Given the description of an element on the screen output the (x, y) to click on. 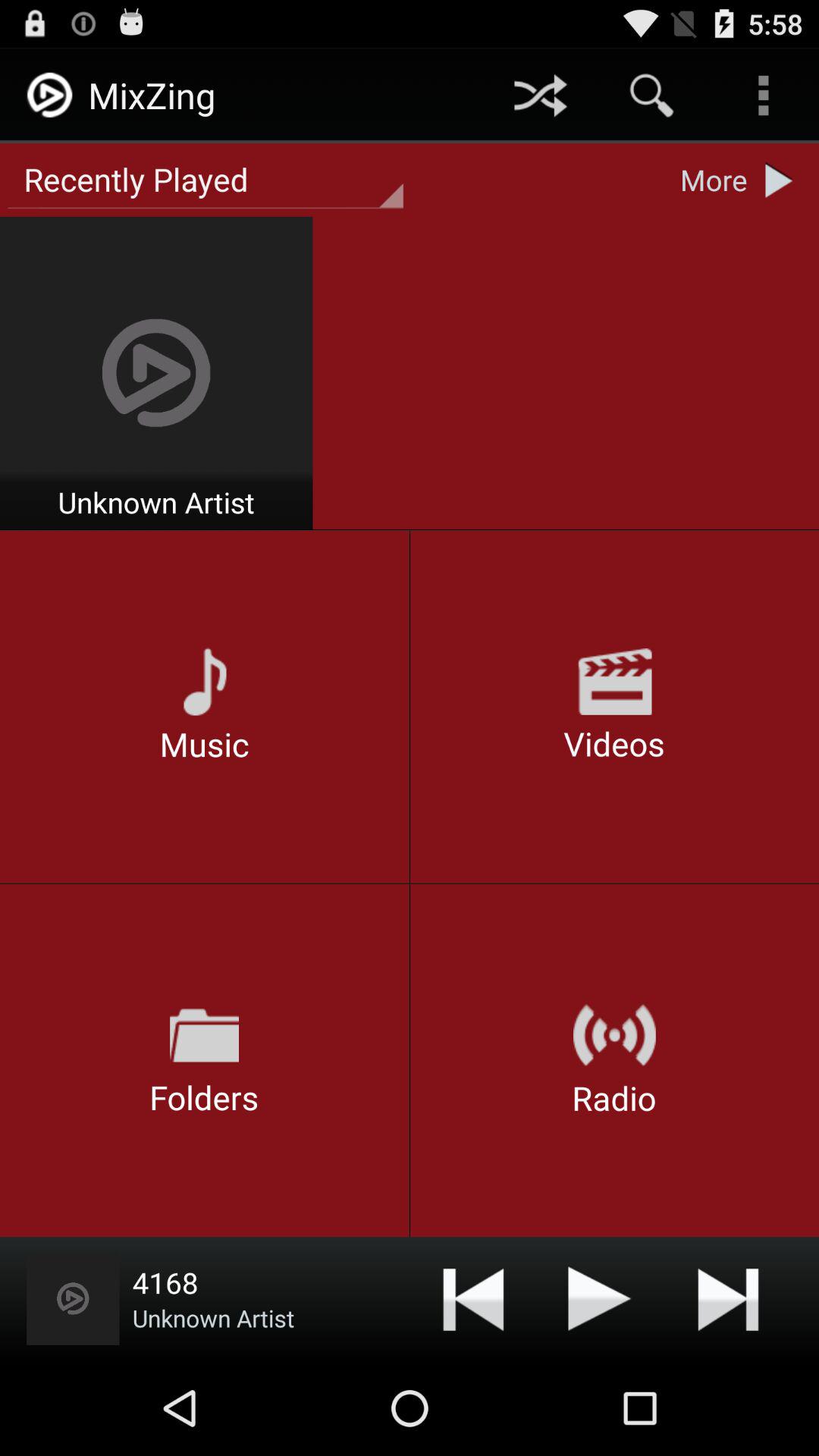
select album artwork cover (72, 1298)
